Given the description of an element on the screen output the (x, y) to click on. 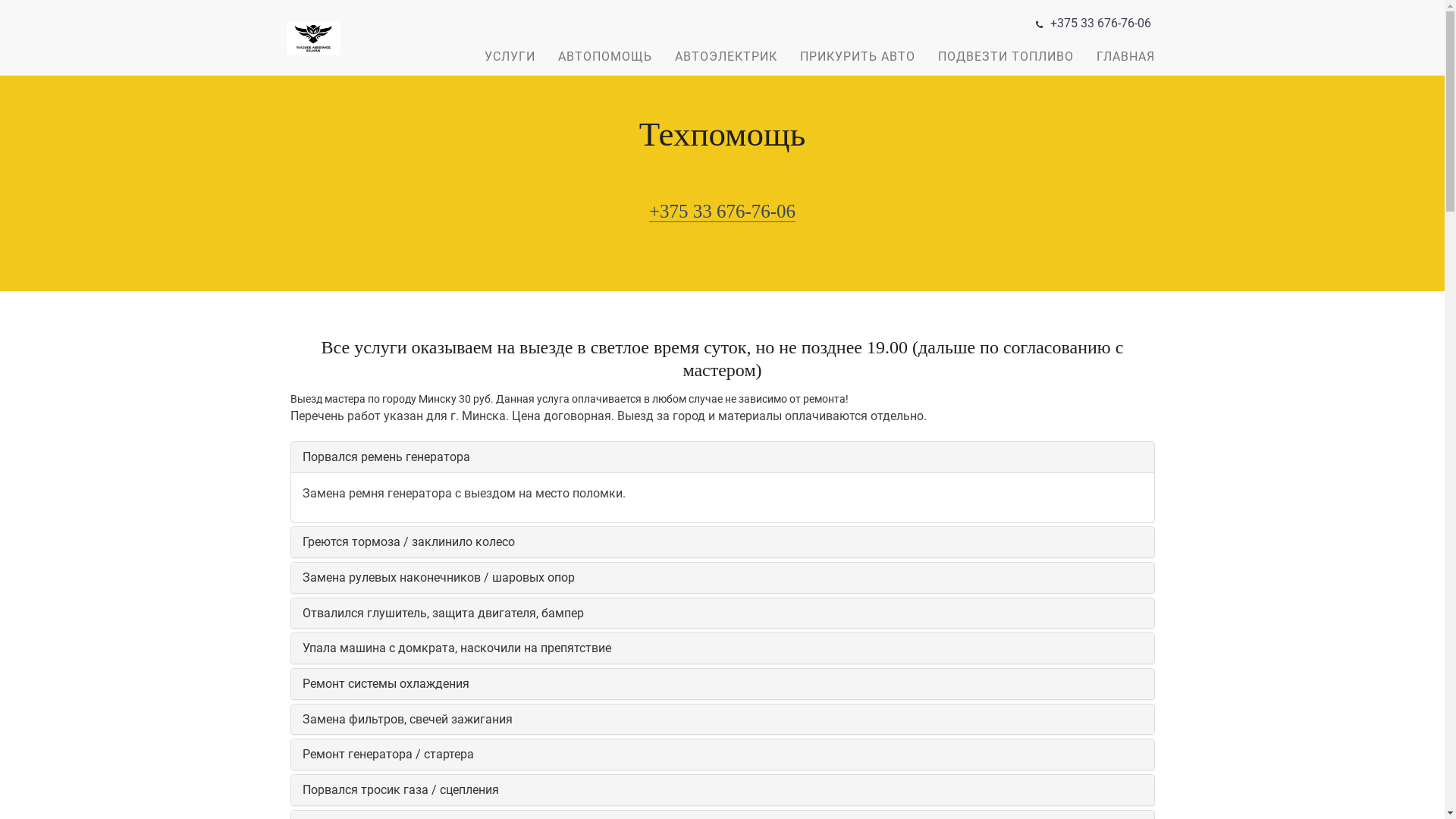
+375 33 676-76-06 Element type: text (1099, 22)
+375 33 676-76-06 Element type: text (722, 211)
